Given the description of an element on the screen output the (x, y) to click on. 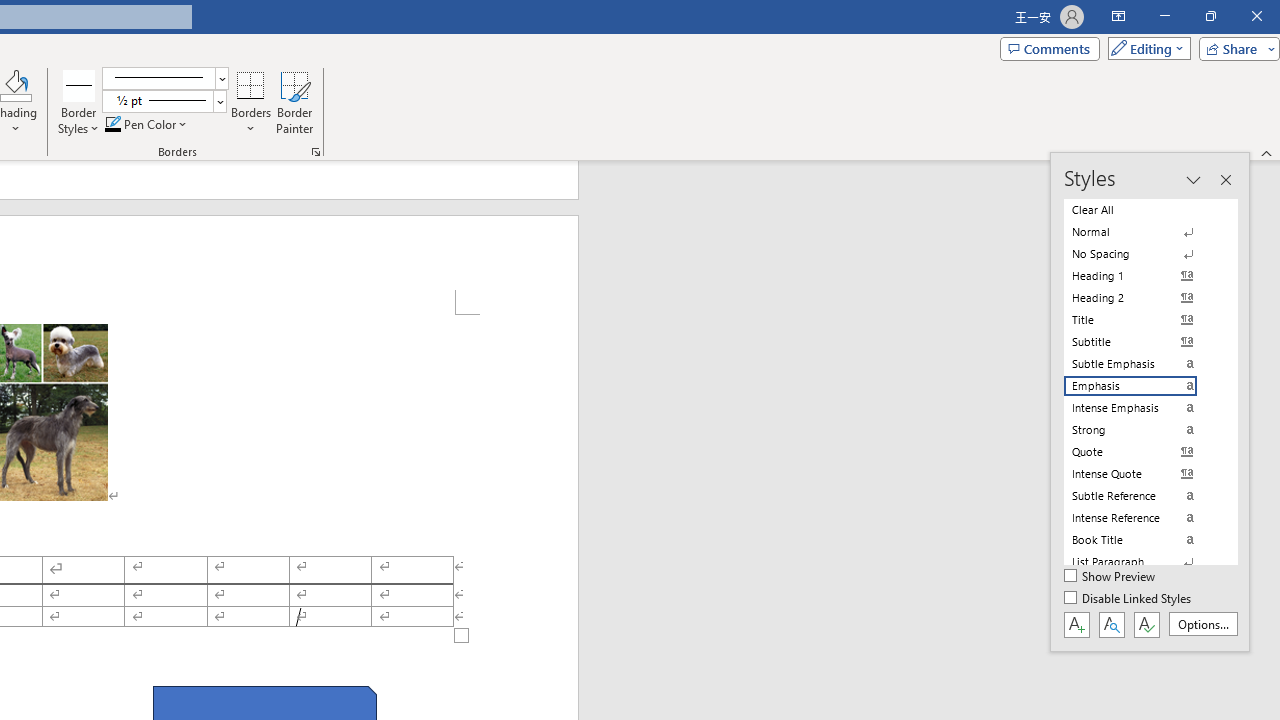
Pen Color (147, 124)
Pen Style (165, 78)
List Paragraph (1142, 561)
Quote (1142, 451)
Borders and Shading... (315, 151)
Border Styles (79, 102)
Normal (1142, 232)
Strong (1142, 429)
Editing (1144, 47)
